Given the description of an element on the screen output the (x, y) to click on. 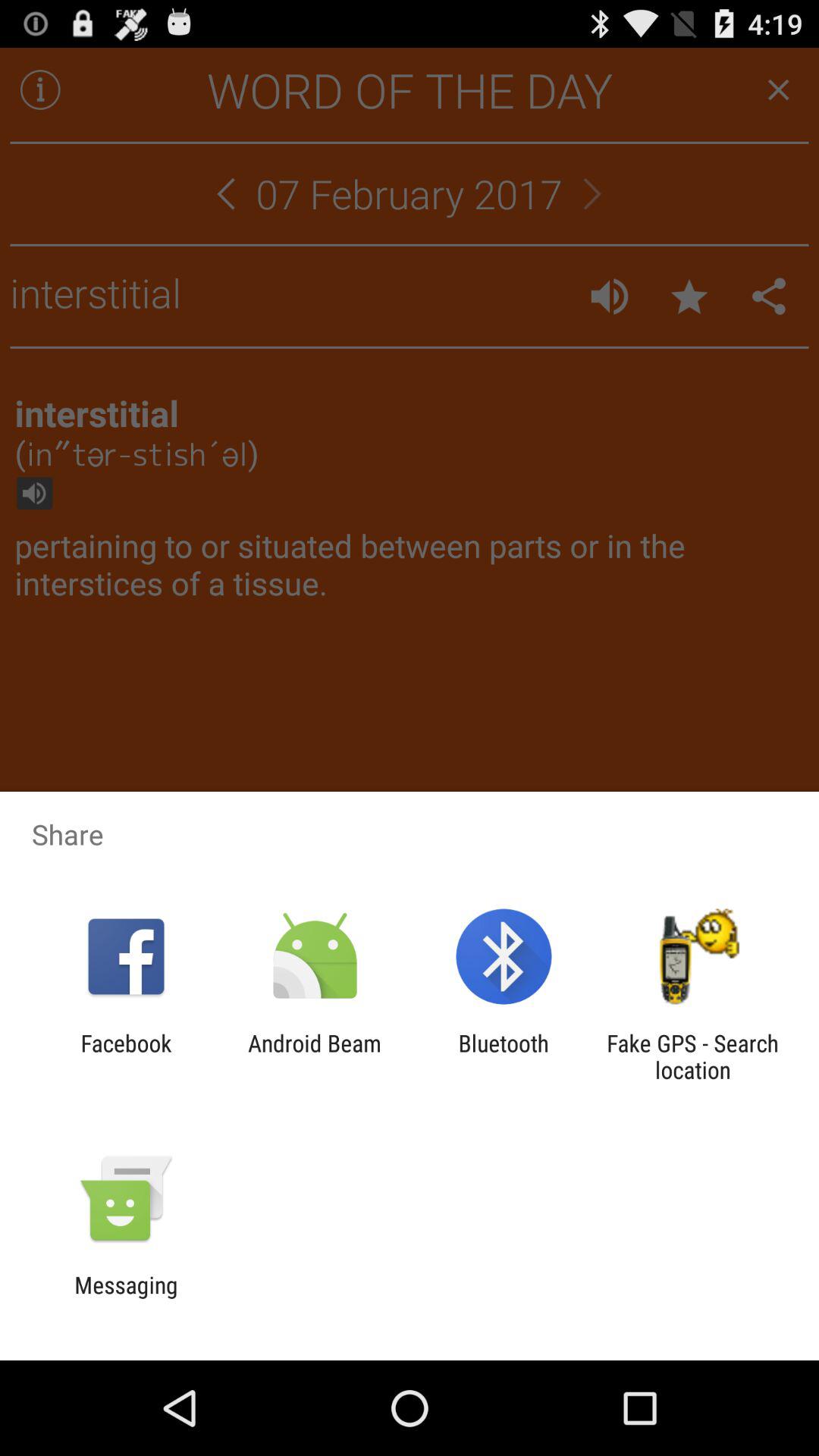
click the icon next to the bluetooth icon (314, 1056)
